Given the description of an element on the screen output the (x, y) to click on. 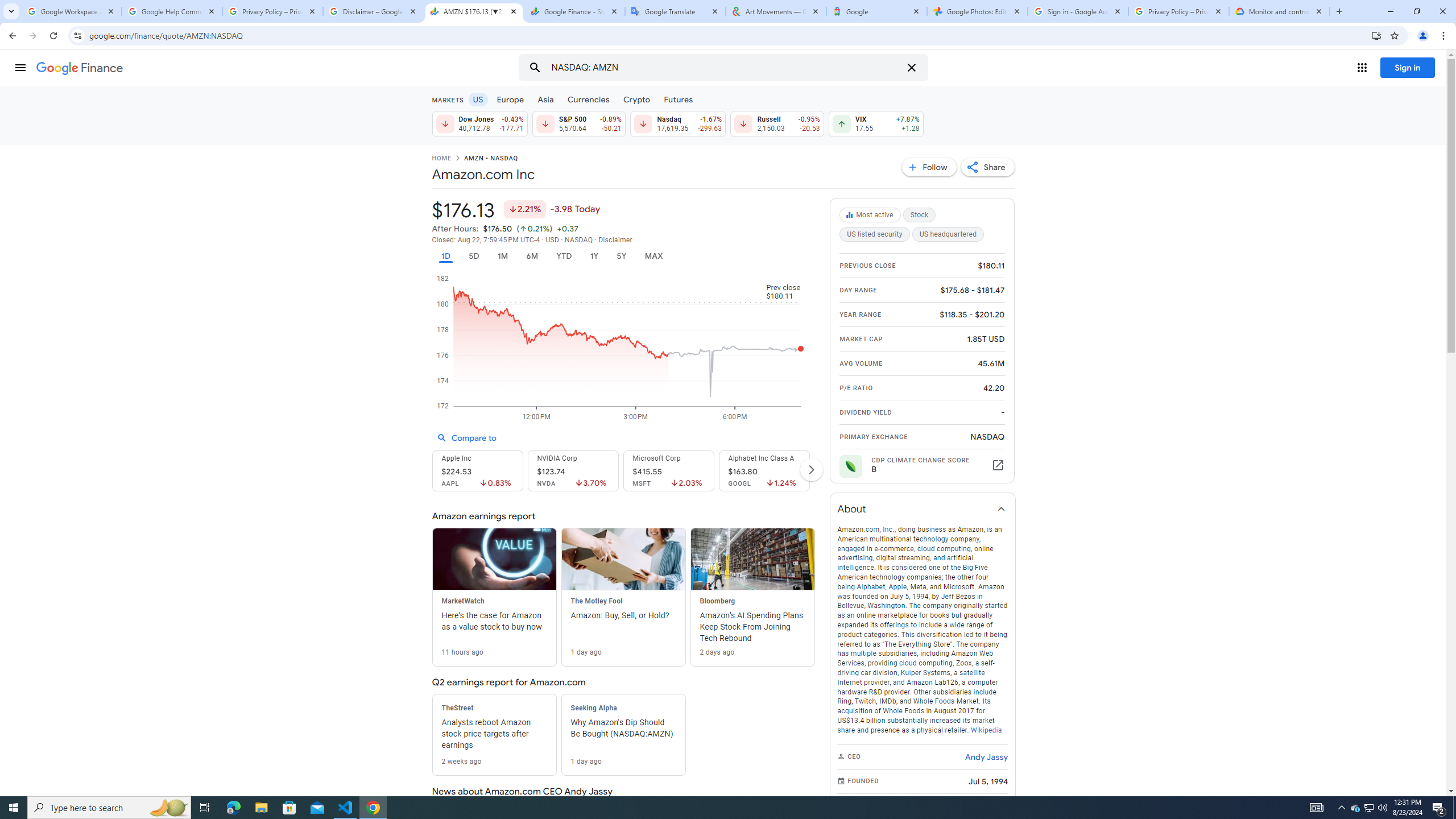
Shared with Me (288, 145)
Get Add-ins (59, 286)
Recent (288, 104)
New (59, 118)
Info (59, 318)
